Given the description of an element on the screen output the (x, y) to click on. 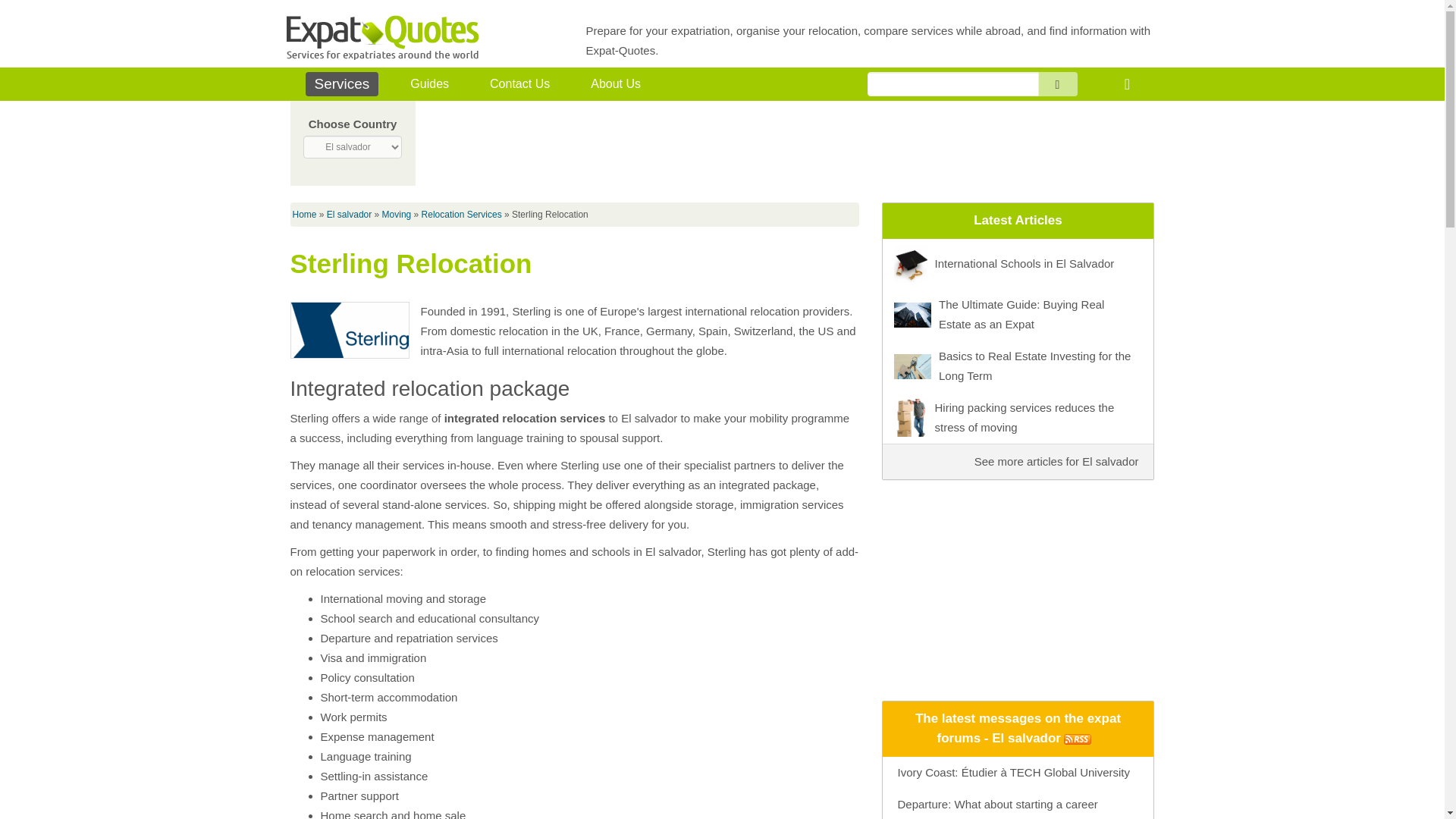
About Us (614, 84)
3rd party ad content (1017, 585)
About Us (614, 84)
Home (1126, 84)
Guides (429, 84)
Hiring packing services reduces the stress of moving (1018, 417)
International Schools in El Salvador (1018, 263)
Relocation Services (462, 214)
The latest messages on the expat forums - El salvador (1018, 728)
Home (304, 214)
